Given the description of an element on the screen output the (x, y) to click on. 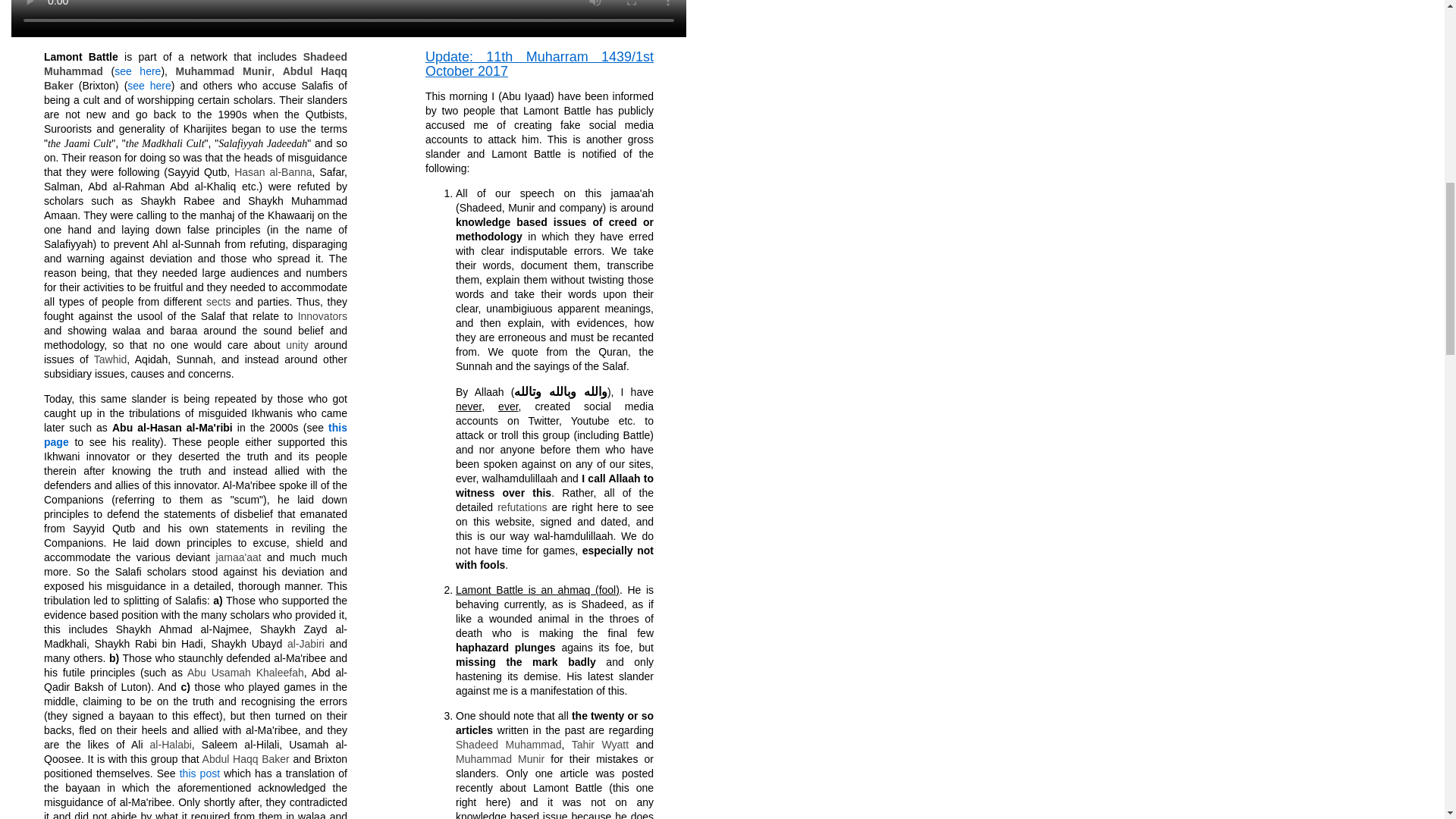
jamaa'aat (237, 557)
this page (195, 434)
Muhammad Munir (224, 70)
Abu Usamah Khaleefah (245, 672)
Shadeed Muhammad (507, 744)
Hasan al-Banna (272, 172)
Innovators (322, 316)
sects (218, 301)
Abdul Haqq Baker (195, 78)
Tawhid (111, 358)
